Given the description of an element on the screen output the (x, y) to click on. 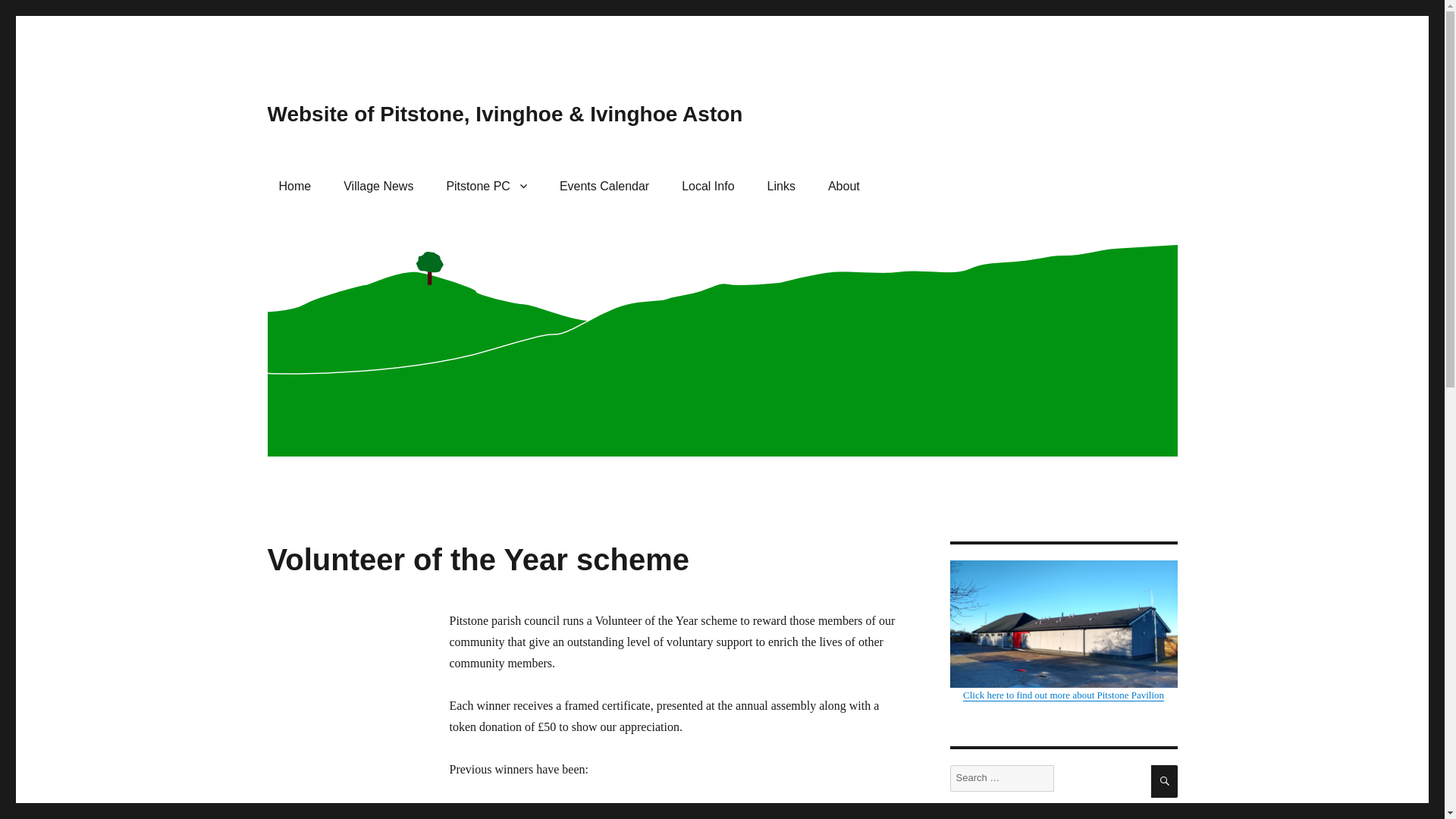
Home (294, 185)
Pitstone PC (486, 185)
Links (781, 185)
Village News (378, 185)
Click here to find out more about Pitstone Pavilion (1062, 630)
Local Info (707, 185)
Pitstone Parish Council (486, 185)
Events Calendar (603, 185)
About (843, 185)
